Given the description of an element on the screen output the (x, y) to click on. 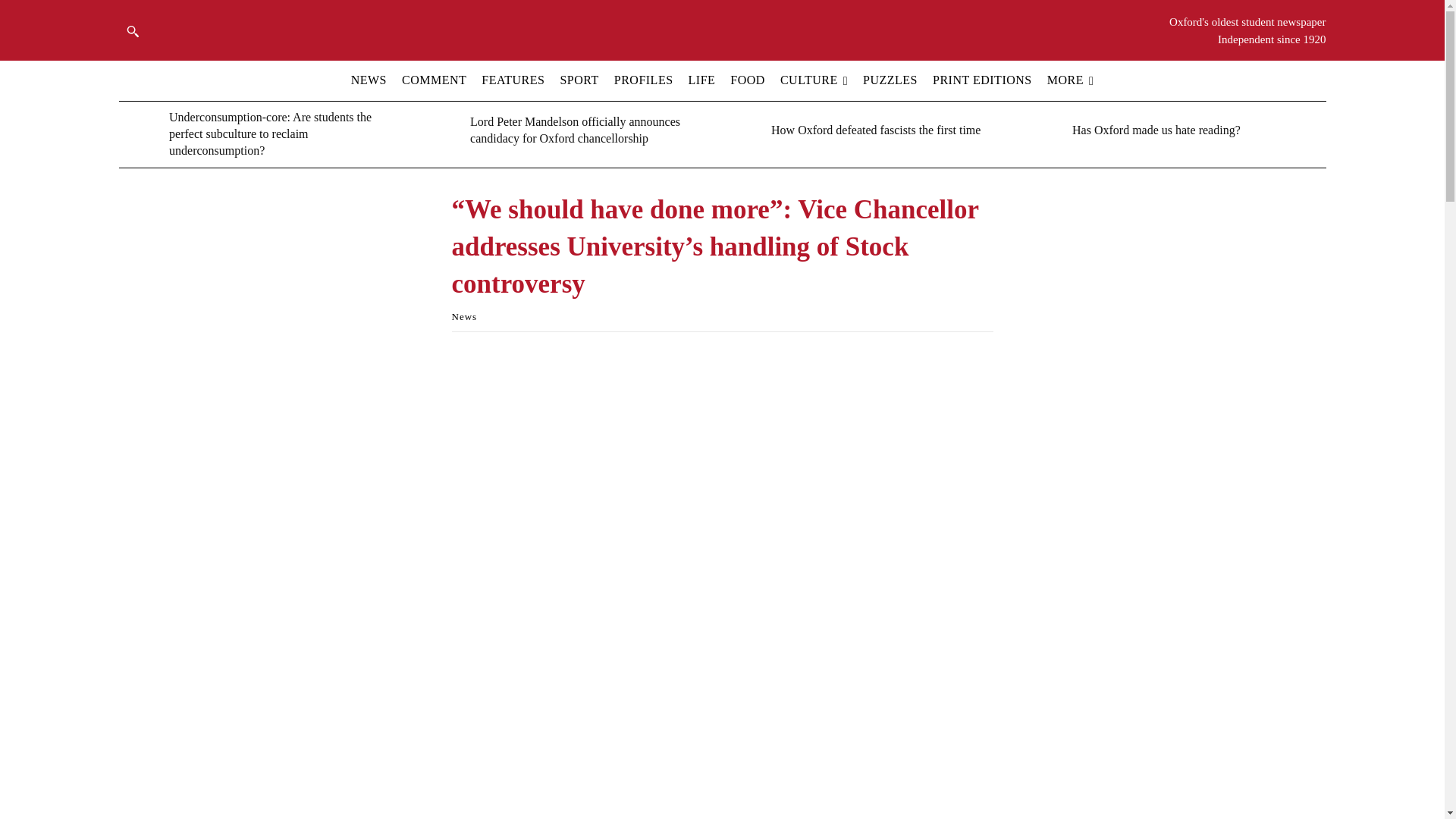
Has Oxford made us hate reading? (1155, 129)
How Oxford defeated fascists the first time (875, 129)
CULTURE (813, 79)
FEATURES (512, 79)
PROFILES (643, 79)
How Oxford defeated fascists the first time (741, 130)
SPORT (579, 79)
View all posts in News (464, 316)
